Given the description of an element on the screen output the (x, y) to click on. 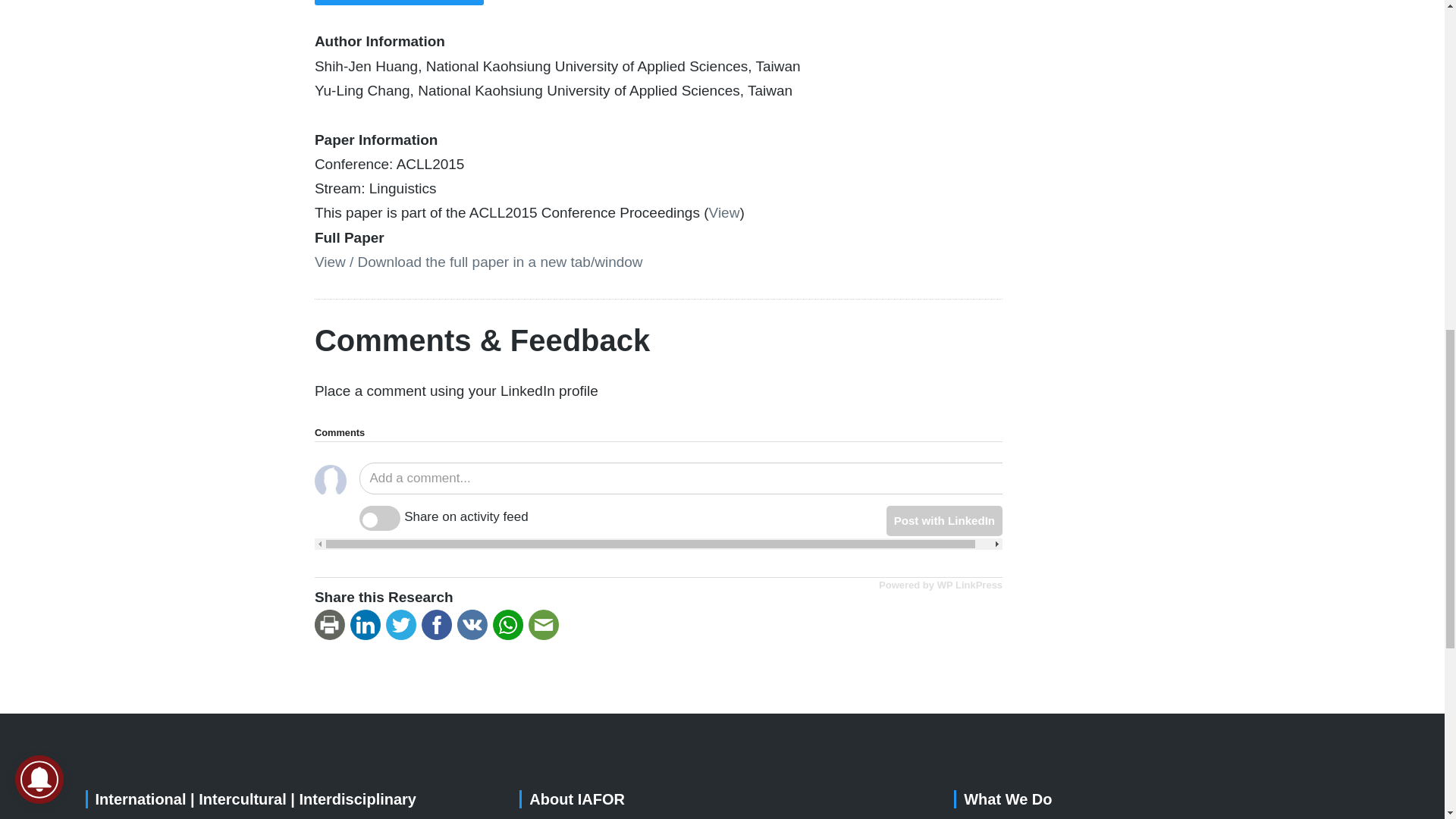
twitter (403, 625)
facebook (439, 625)
linkedin (367, 625)
print (332, 625)
vk (475, 625)
whatsapp (510, 625)
email (546, 625)
